Given the description of an element on the screen output the (x, y) to click on. 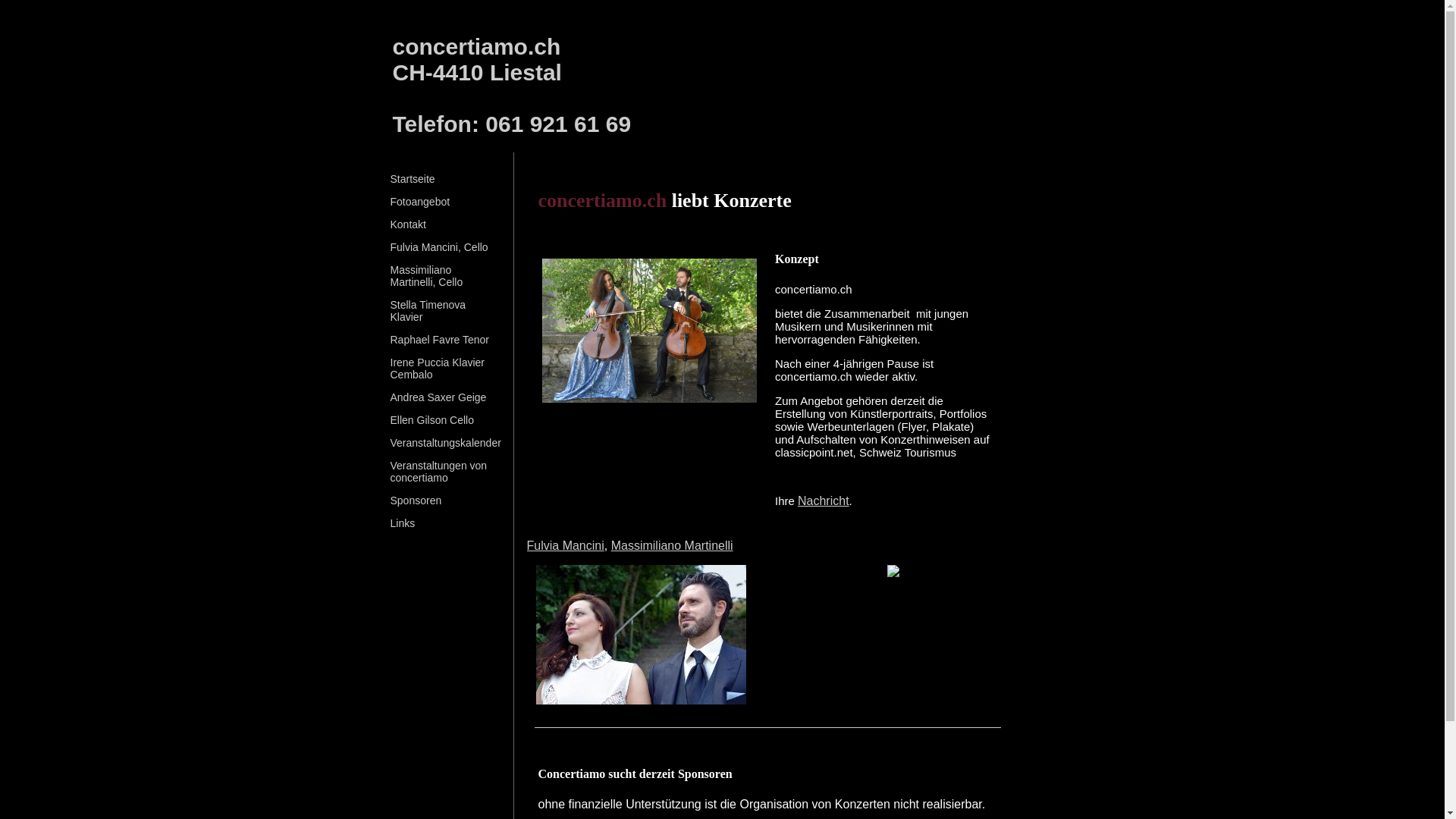
Links Element type: text (401, 528)
Ellen Gilson Cello Element type: text (431, 425)
Veranstaltungen von concertiamo Element type: text (437, 476)
Andrea Saxer Geige Element type: text (437, 402)
Fulvia Mancini Element type: text (564, 545)
Veranstaltungskalender Element type: text (444, 447)
Irene Puccia Klavier Cembalo Element type: text (436, 373)
Raphael Favre Tenor Element type: text (438, 344)
Massimiliano Martinelli Element type: text (672, 545)
Kontakt Element type: text (407, 229)
Massimiliano Martinelli, Cello Element type: text (425, 280)
Startseite Element type: text (411, 183)
concertiamo.ch
CH-4410 Liestal

Telefon: 061 921 61 69 Element type: text (511, 85)
Fulvia Mancini, Cello Element type: text (438, 252)
Fotoangebot Element type: text (419, 206)
Nachricht Element type: text (823, 500)
Stella Timenova Klavier Element type: text (427, 315)
Sponsoren Element type: text (415, 505)
